Given the description of an element on the screen output the (x, y) to click on. 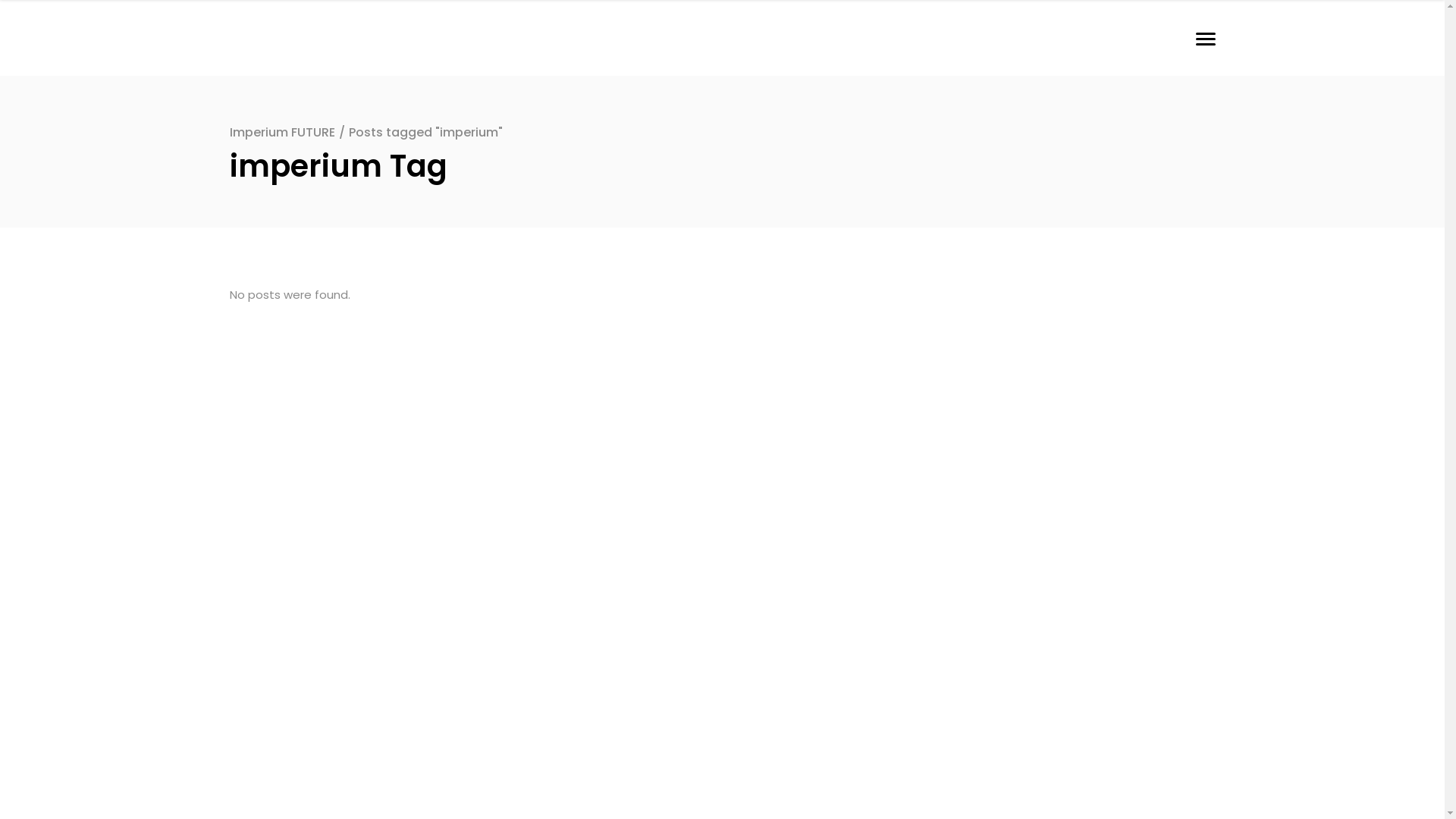
Imperium FUTURE Element type: text (281, 132)
  Element type: text (1199, 38)
